Given the description of an element on the screen output the (x, y) to click on. 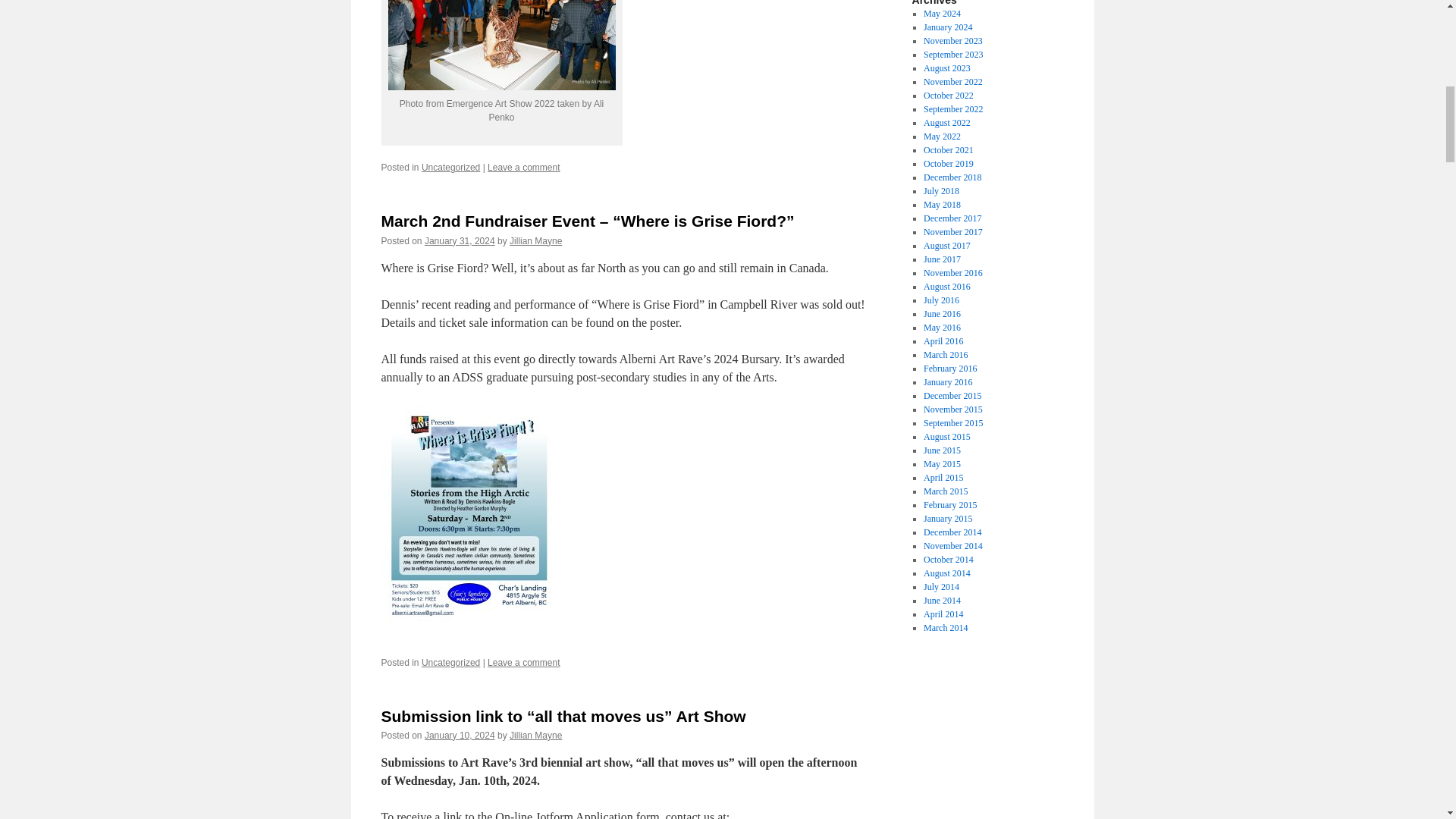
3:43 am (460, 735)
View all posts by Jillian Mayne (535, 735)
5:44 am (460, 240)
View all posts by Jillian Mayne (535, 240)
